Given the description of an element on the screen output the (x, y) to click on. 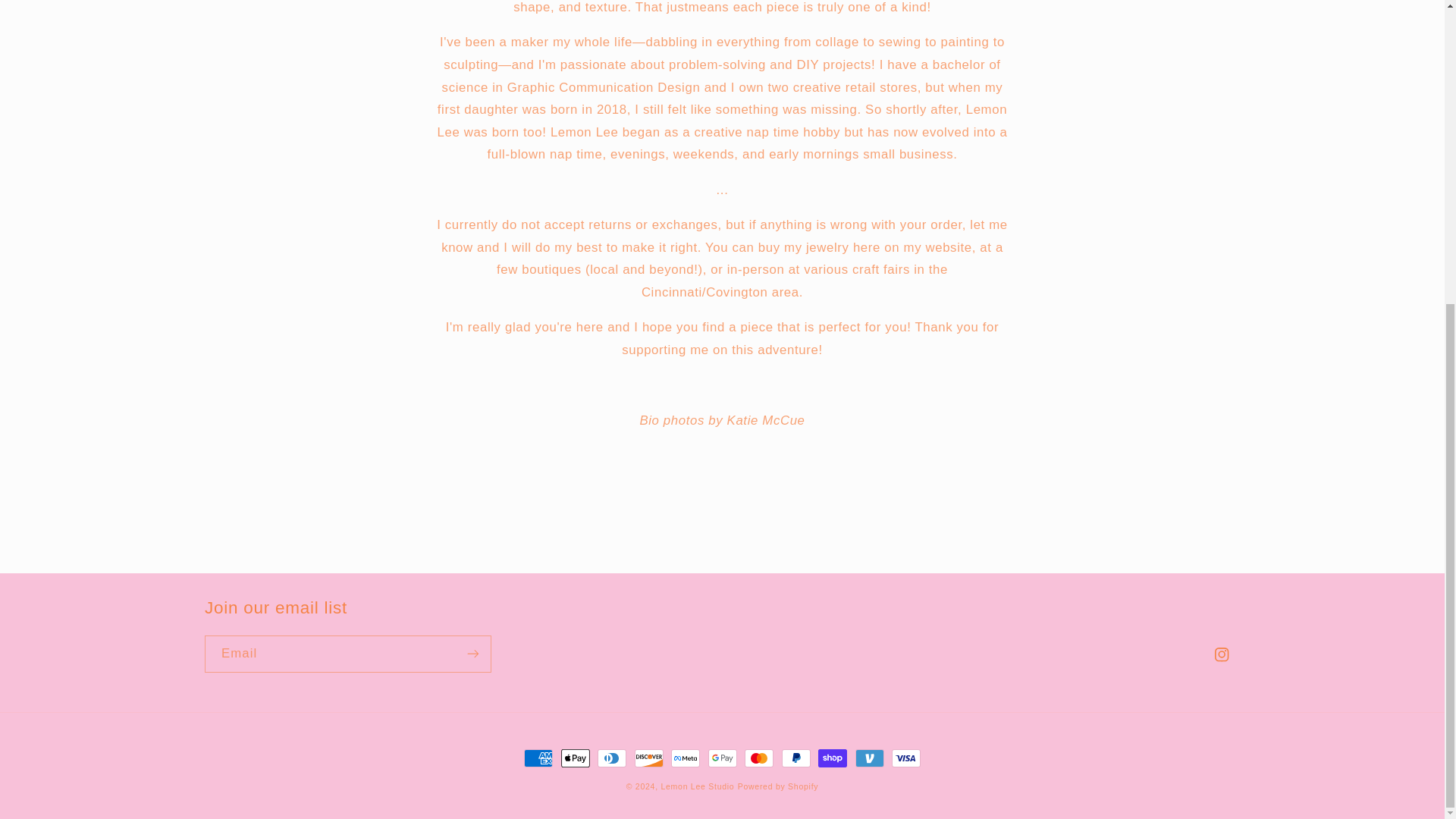
Instagram (1222, 655)
Powered by Shopify (778, 786)
Lemon Lee Studio (697, 786)
